Given the description of an element on the screen output the (x, y) to click on. 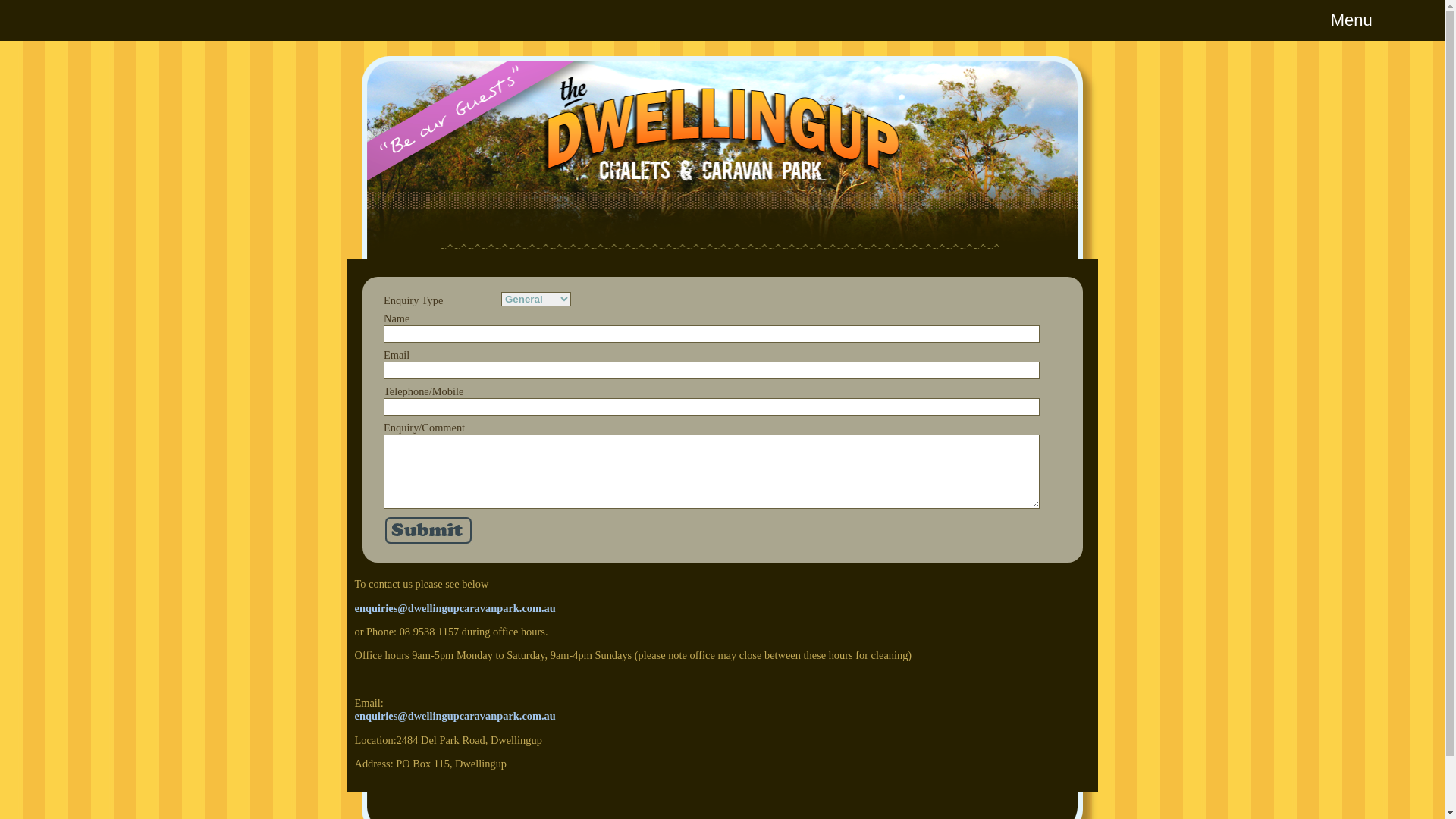
enquiries@dwellingupcaravanpark.com.au Element type: text (454, 715)
enquiries@dwellingupcaravanpark.com.au Element type: text (454, 608)
send Element type: text (428, 531)
Menu Element type: text (722, 20)
Contact | Dwellingup Chalets and Caravan Park Element type: hover (722, 157)
